Given the description of an element on the screen output the (x, y) to click on. 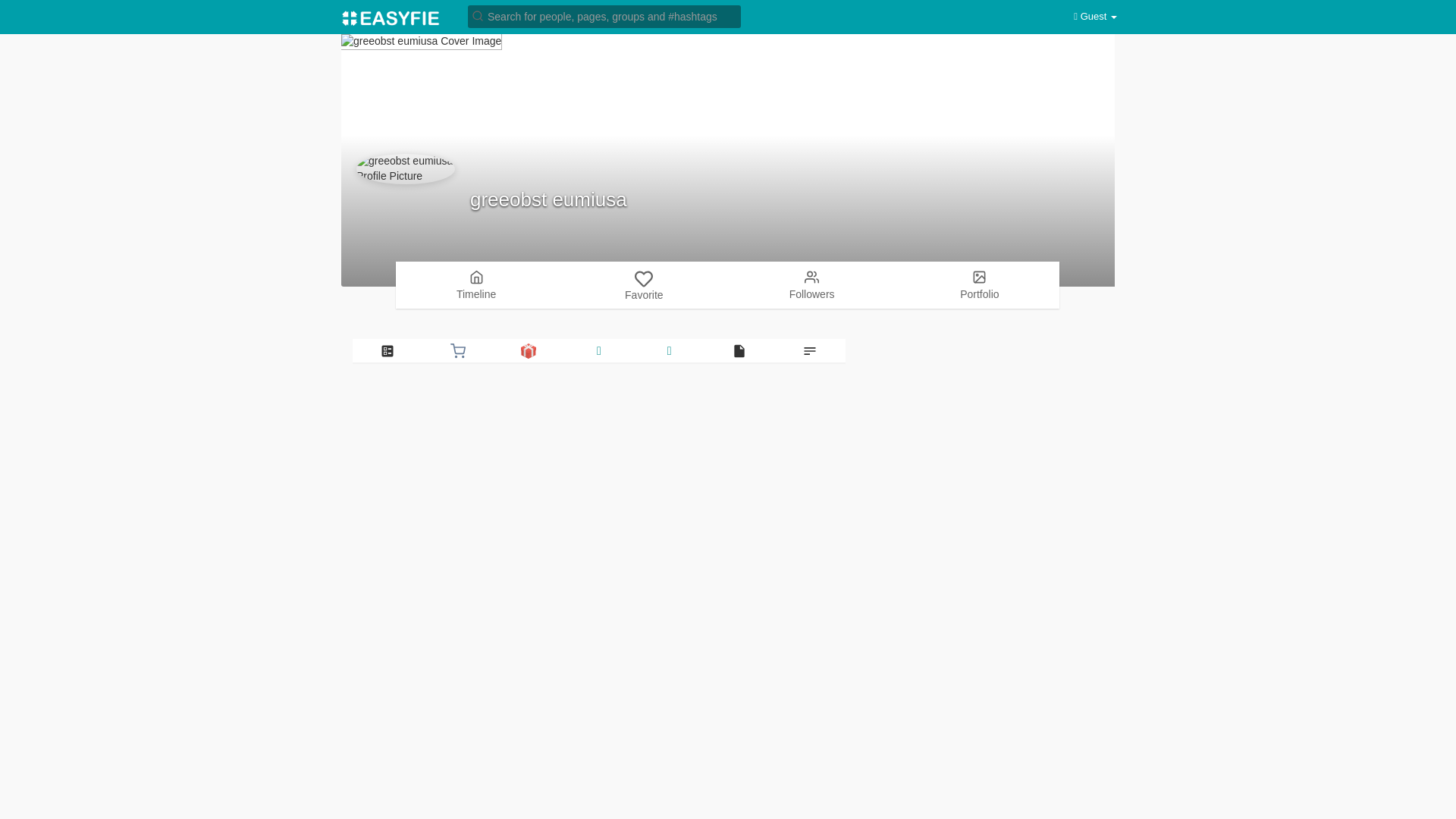
Portfolio (979, 284)
greeobst eumiusa (548, 199)
Guest (1094, 17)
Favorite (643, 284)
Followers (811, 284)
Timeline (476, 284)
